Given the description of an element on the screen output the (x, y) to click on. 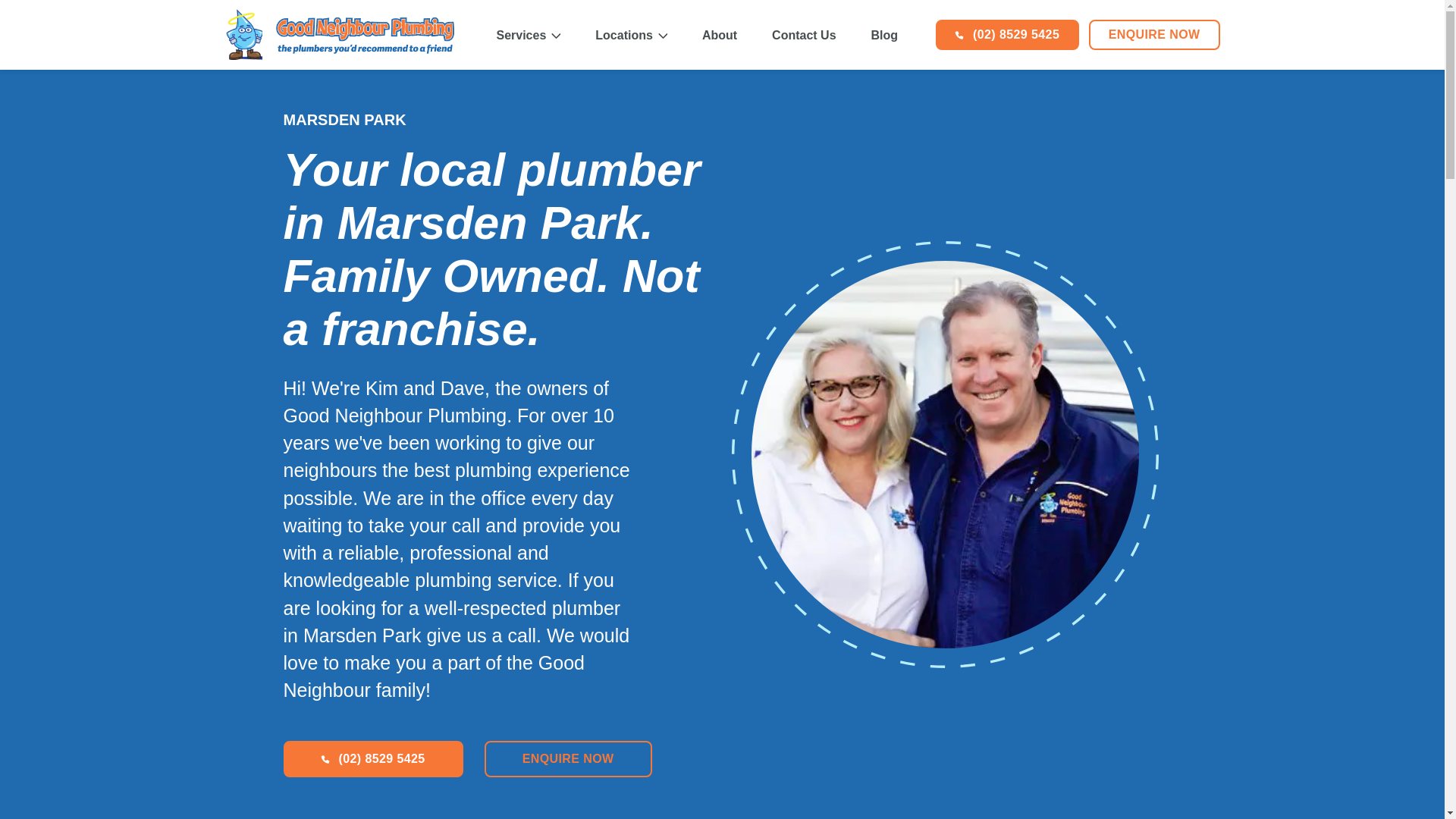
ENQUIRE NOW (1154, 34)
Locations (631, 34)
About (719, 34)
ENQUIRE NOW (568, 759)
Good Neighbour Plumbing (347, 34)
Services (527, 34)
Blog (885, 34)
Contact Us (803, 34)
